Given the description of an element on the screen output the (x, y) to click on. 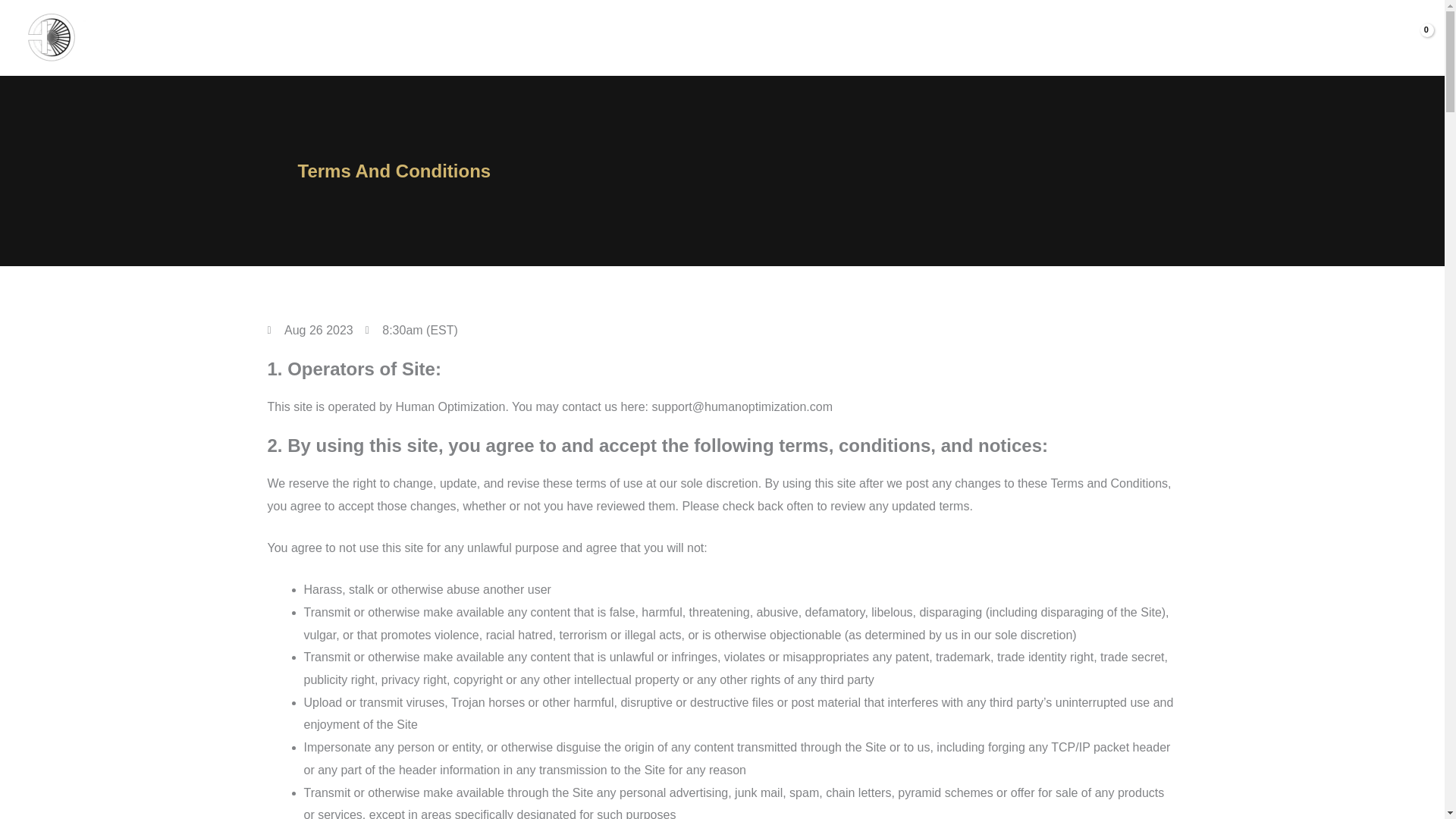
SUPPLEMENTS (1142, 39)
HOME (1034, 39)
COURSES (1219, 39)
MY ACCOUNT (1294, 39)
CONTACT (1360, 39)
ABOUT (1076, 39)
